Given the description of an element on the screen output the (x, y) to click on. 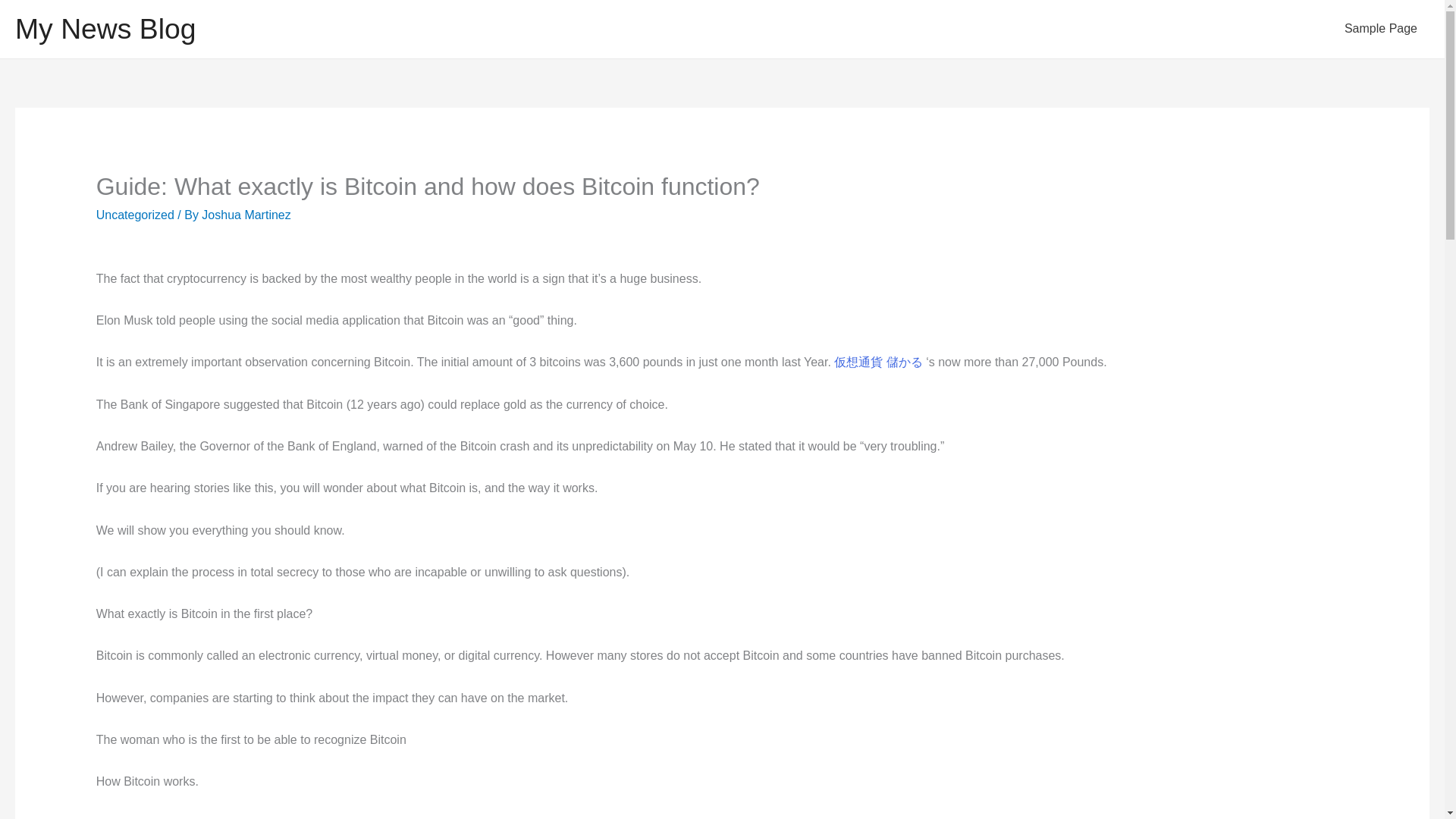
Uncategorized (135, 214)
Joshua Martinez (245, 214)
View all posts by Joshua Martinez (245, 214)
My News Blog (105, 29)
Sample Page (1380, 29)
